Given the description of an element on the screen output the (x, y) to click on. 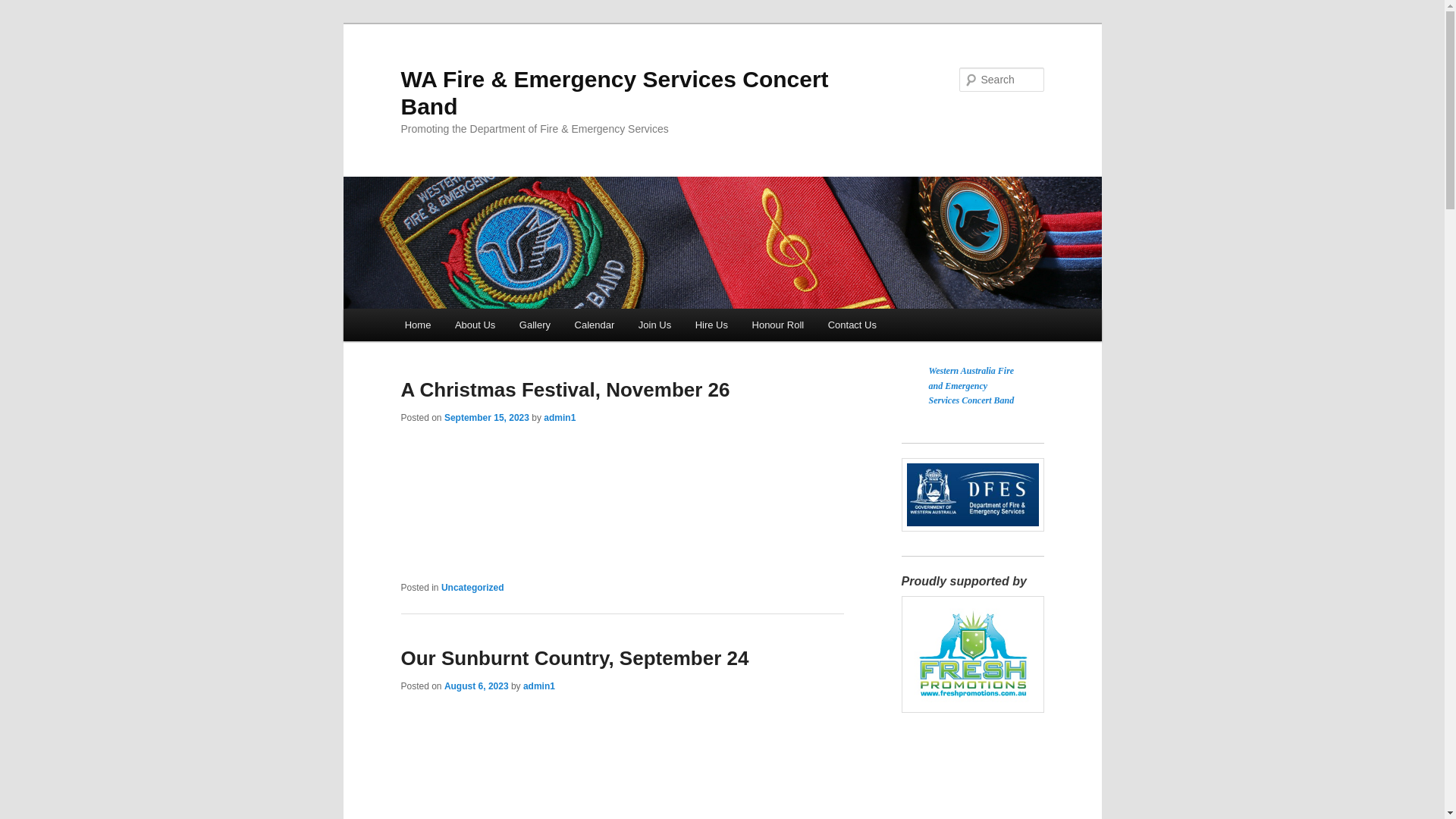
About Us Element type: text (474, 324)
WA Fire & Emergency Services Concert Band Element type: text (614, 92)
Honour Roll Element type: text (777, 324)
Home Element type: text (417, 324)
Contact Us Element type: text (851, 324)
Our Sunburnt Country, September 24 Element type: text (574, 657)
September 15, 2023 Element type: text (486, 417)
admin1 Element type: text (539, 685)
Hire Us Element type: text (711, 324)
Calendar Element type: text (594, 324)
Search Element type: text (24, 8)
August 6, 2023 Element type: text (476, 685)
Skip to primary content Element type: text (22, 22)
Uncategorized Element type: text (472, 587)
Western Australia Fire and Emergency Services Concert Band Element type: text (970, 385)
Gallery Element type: text (534, 324)
admin1 Element type: text (559, 417)
A Christmas Festival, November 26 Element type: text (564, 389)
Join Us Element type: text (654, 324)
